Given the description of an element on the screen output the (x, y) to click on. 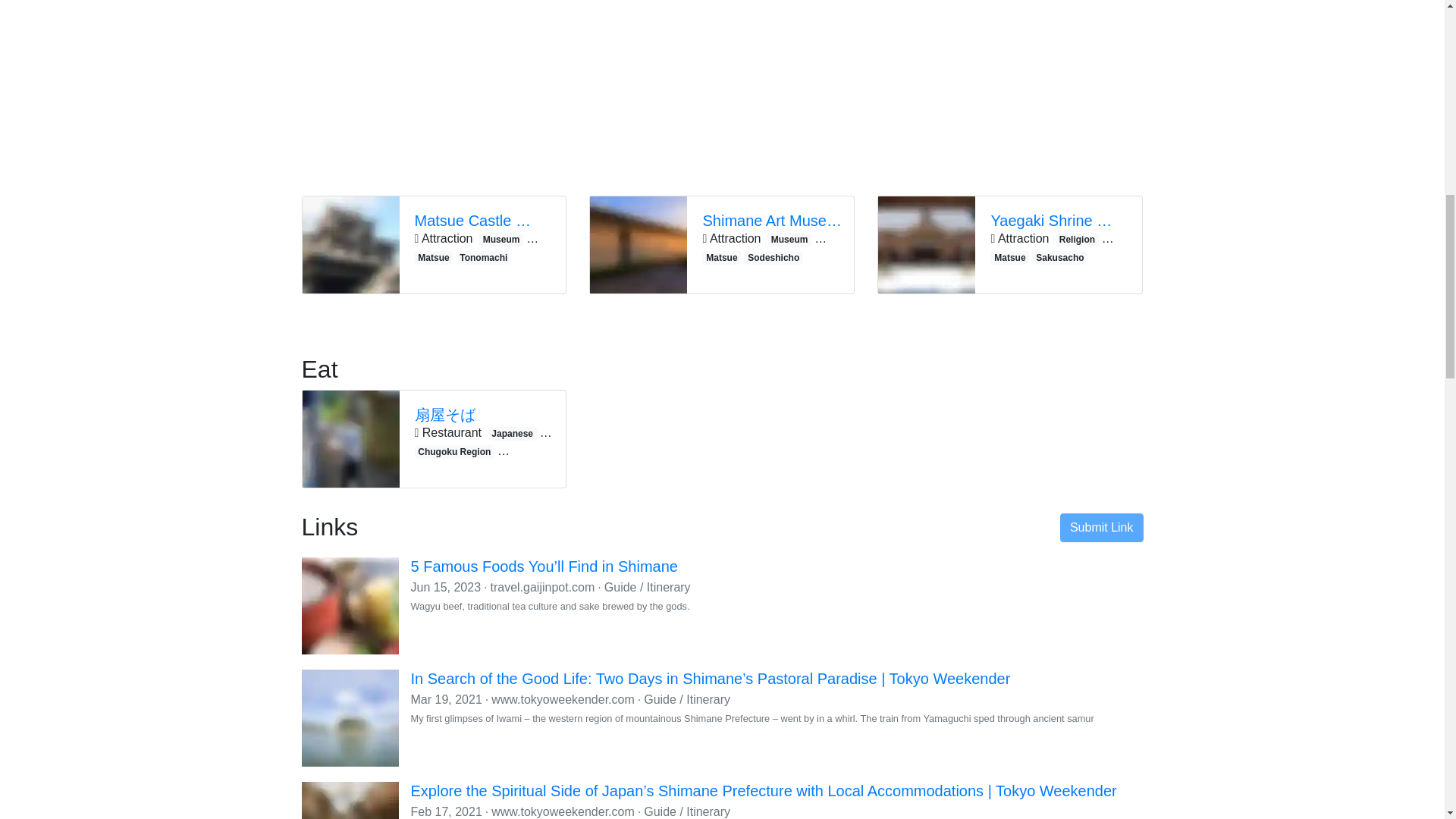
Submit Link (1100, 527)
Advertisement (1009, 91)
Shimane Art Museum (773, 220)
